Given the description of an element on the screen output the (x, y) to click on. 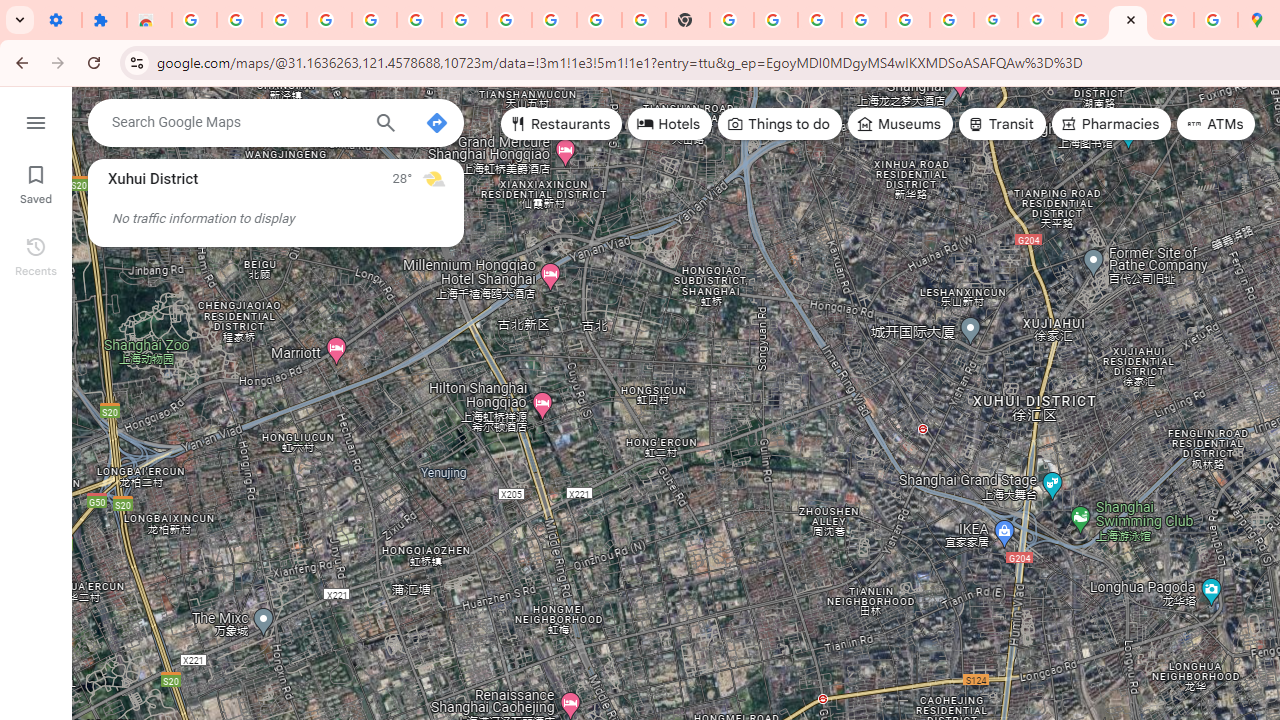
Partly cloudy (433, 178)
